Given the description of an element on the screen output the (x, y) to click on. 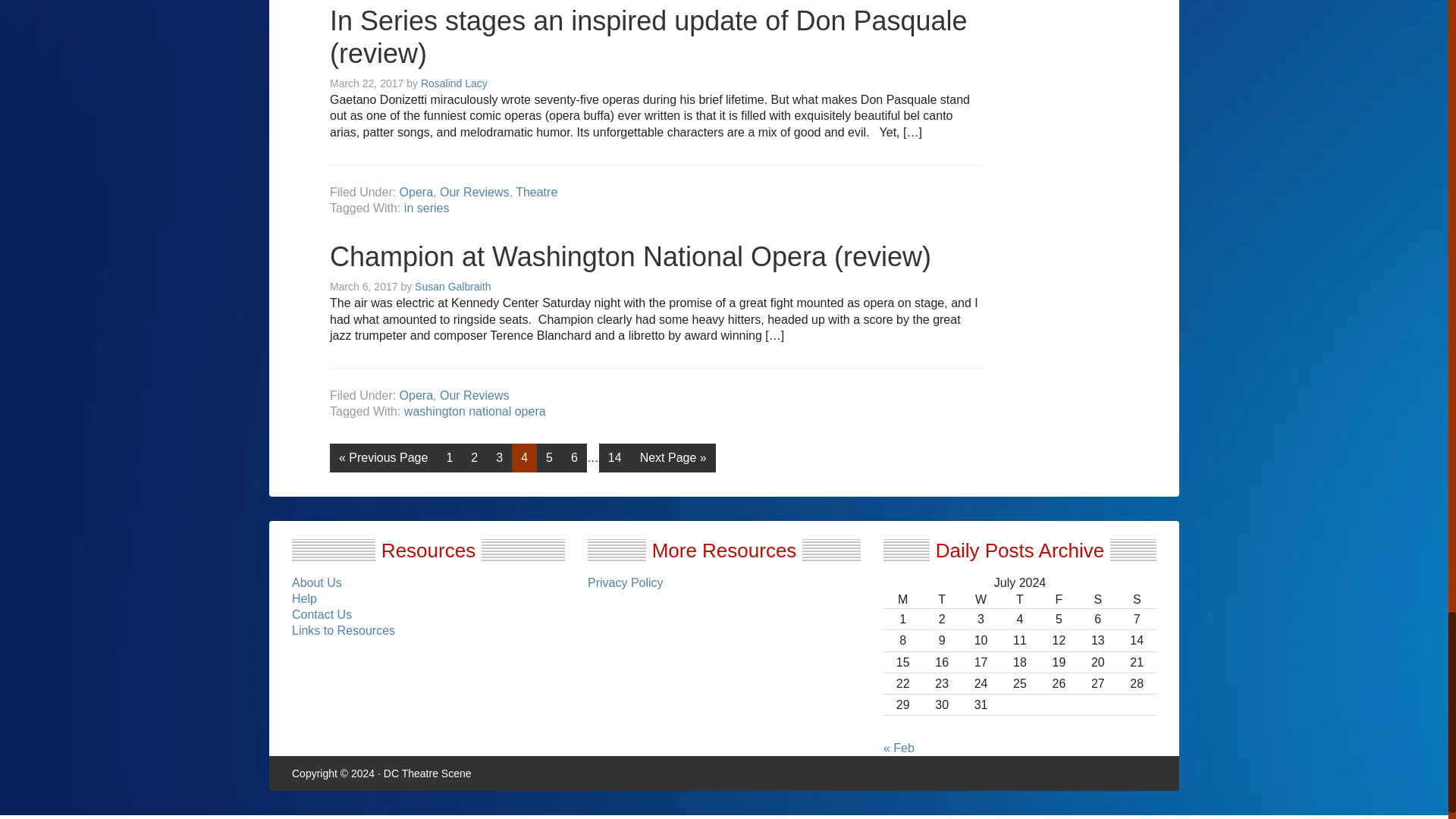
Tuesday (940, 599)
Wednesday (980, 599)
Monday (902, 599)
Saturday (1097, 599)
Sunday (1137, 599)
Thursday (1019, 599)
Friday (1058, 599)
